Given the description of an element on the screen output the (x, y) to click on. 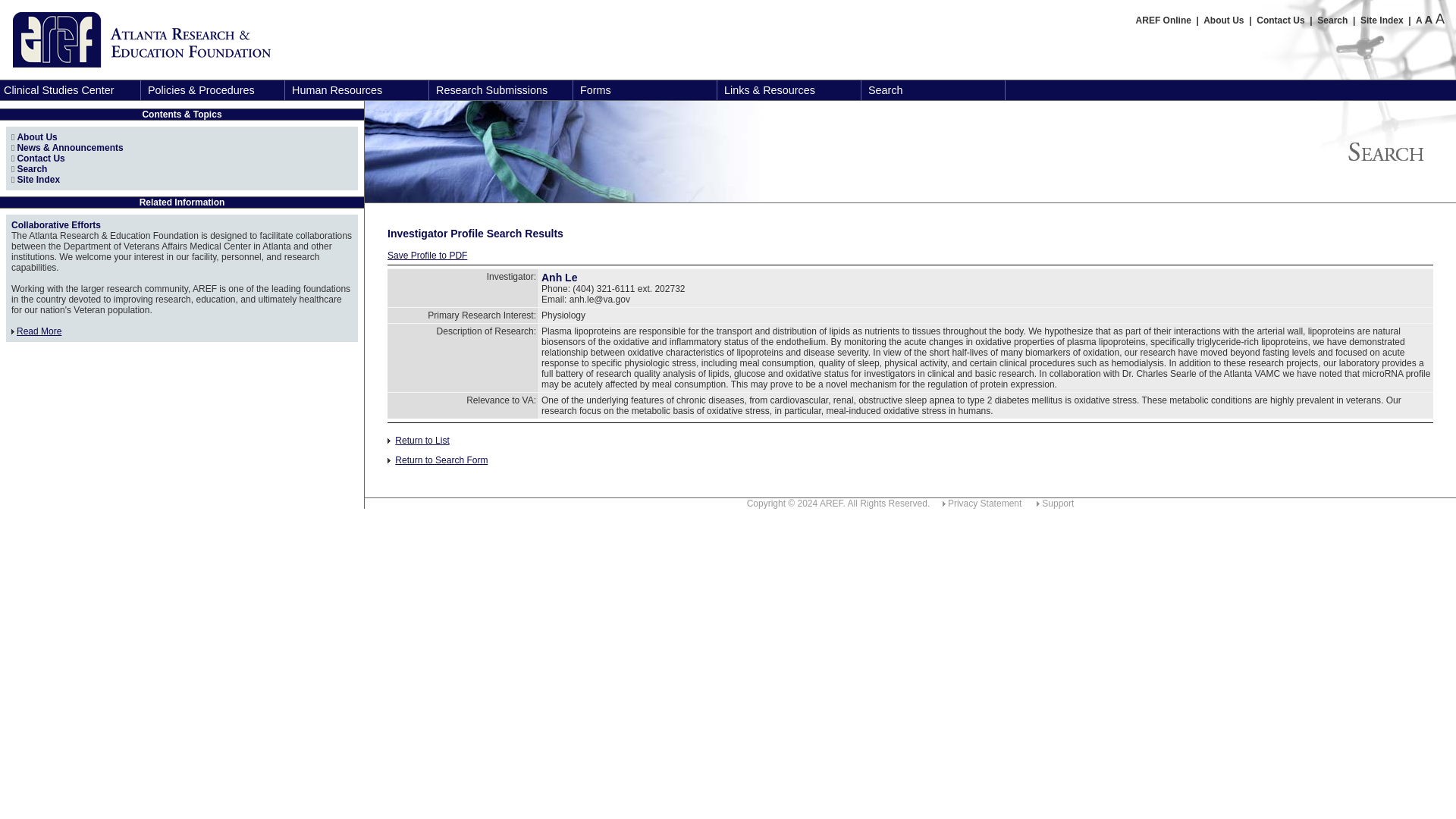
About Us (1223, 20)
Search (1332, 20)
AREF Online (1163, 20)
Research Submissions (502, 89)
Contact Us (1280, 20)
Site Index (1381, 20)
Human Resources (358, 89)
Clinical Studies Center (70, 89)
